Given the description of an element on the screen output the (x, y) to click on. 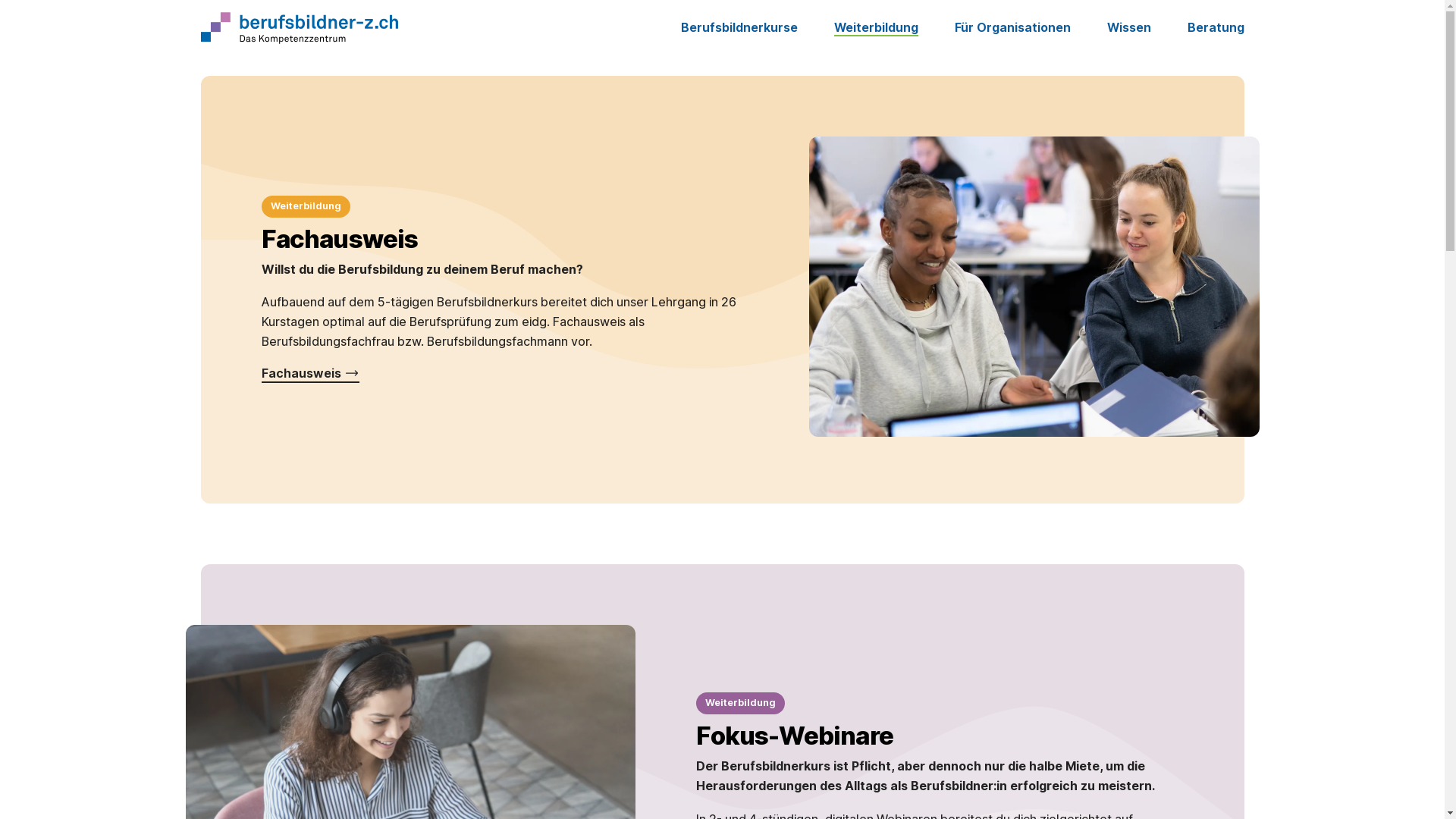
Fachausweis Element type: text (309, 373)
Berufsbildnerkurse Element type: text (738, 28)
Weiterbildung Element type: text (876, 28)
Startseite Element type: text (298, 27)
Wissen Element type: text (1129, 28)
Beratung Element type: text (1215, 28)
